Given the description of an element on the screen output the (x, y) to click on. 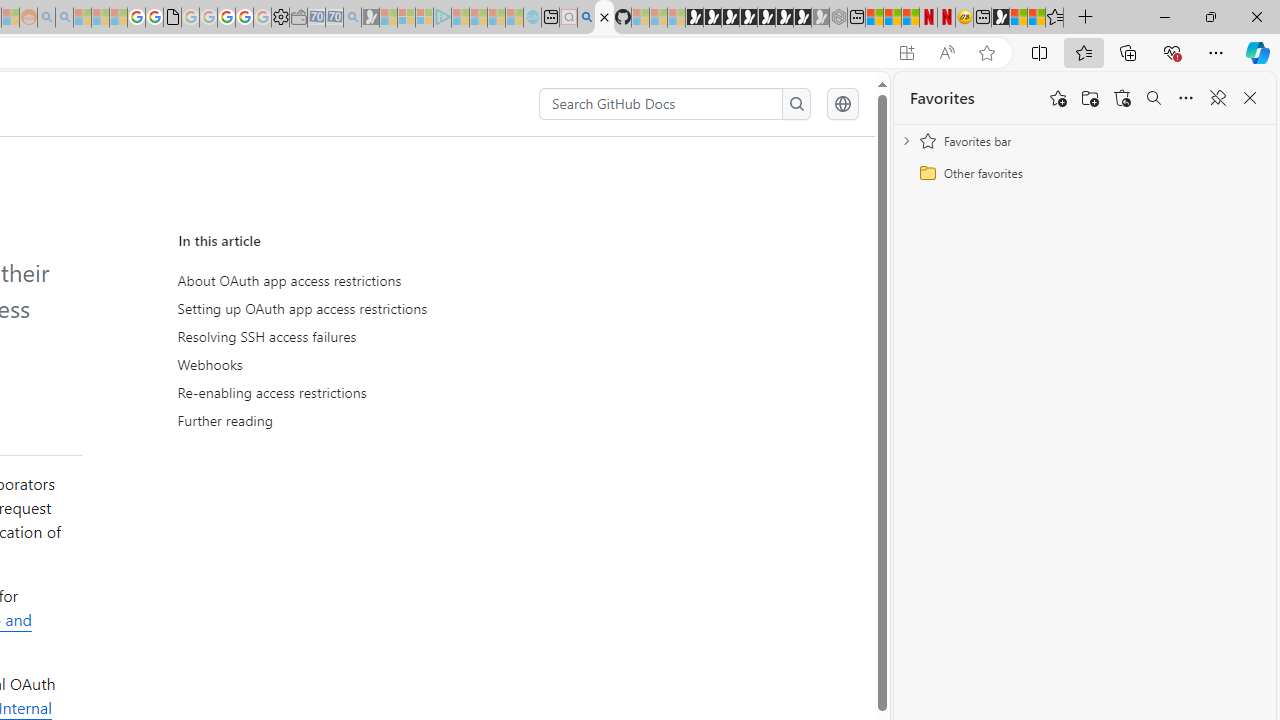
Select language: current language is English (842, 103)
Resolving SSH access failures (362, 337)
Re-enabling access restrictions (365, 392)
Restore deleted favorites (1122, 98)
Search favorites (1153, 98)
Add folder (1089, 98)
